Given the description of an element on the screen output the (x, y) to click on. 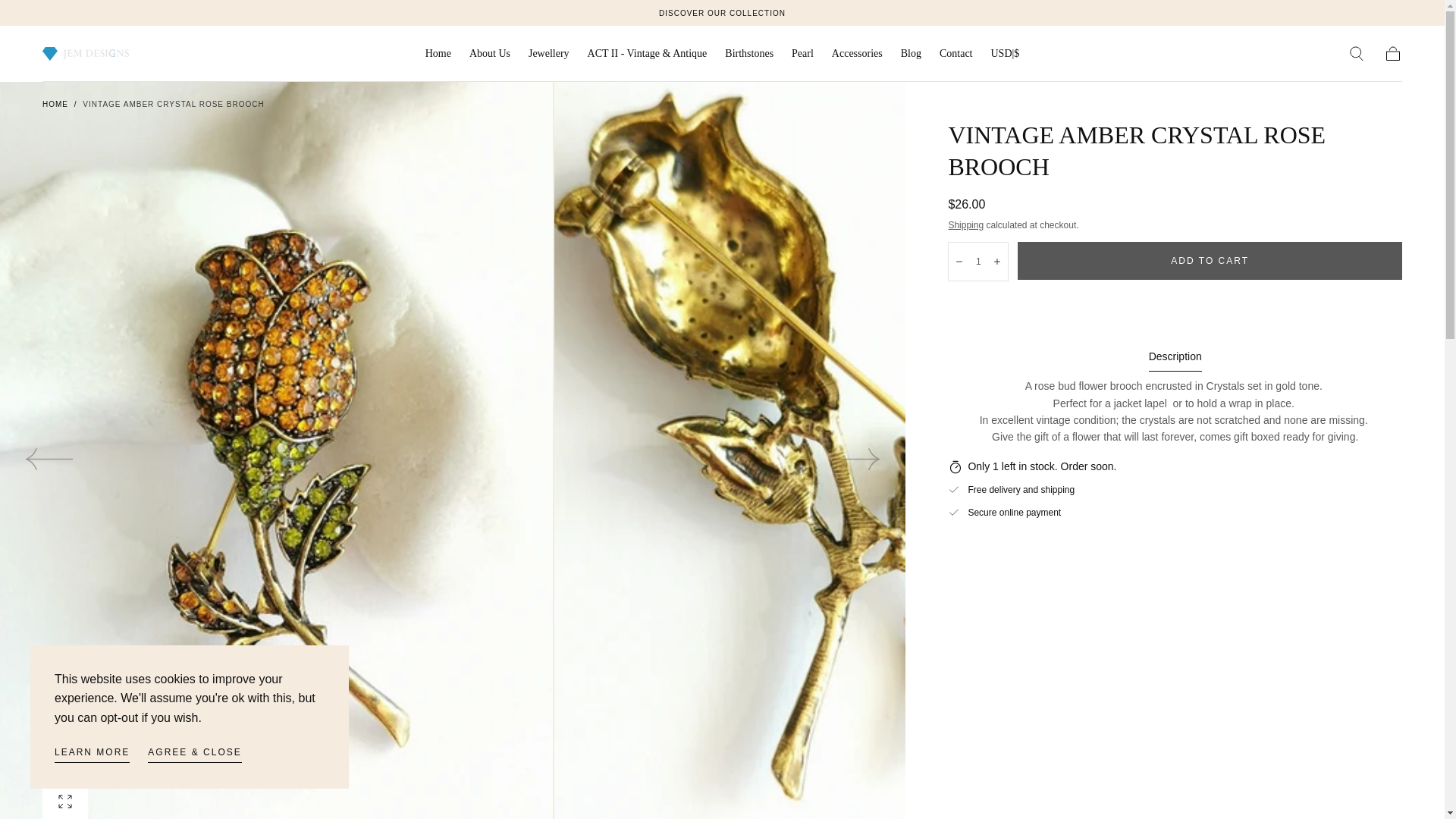
SKIP TO CONTENT (67, 18)
Cart (1393, 54)
LEARN MORE (92, 754)
